Given the description of an element on the screen output the (x, y) to click on. 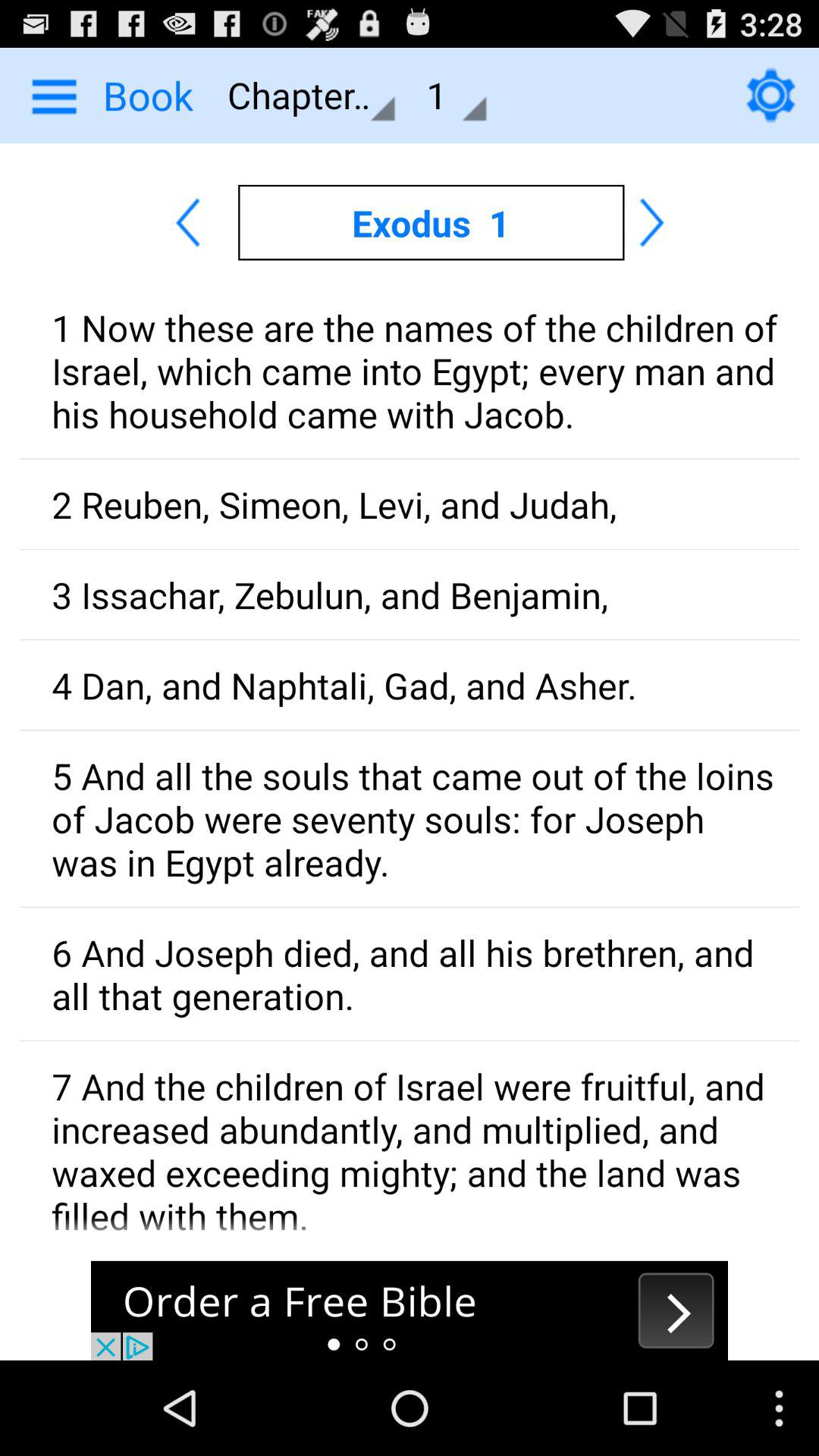
setting (770, 95)
